Given the description of an element on the screen output the (x, y) to click on. 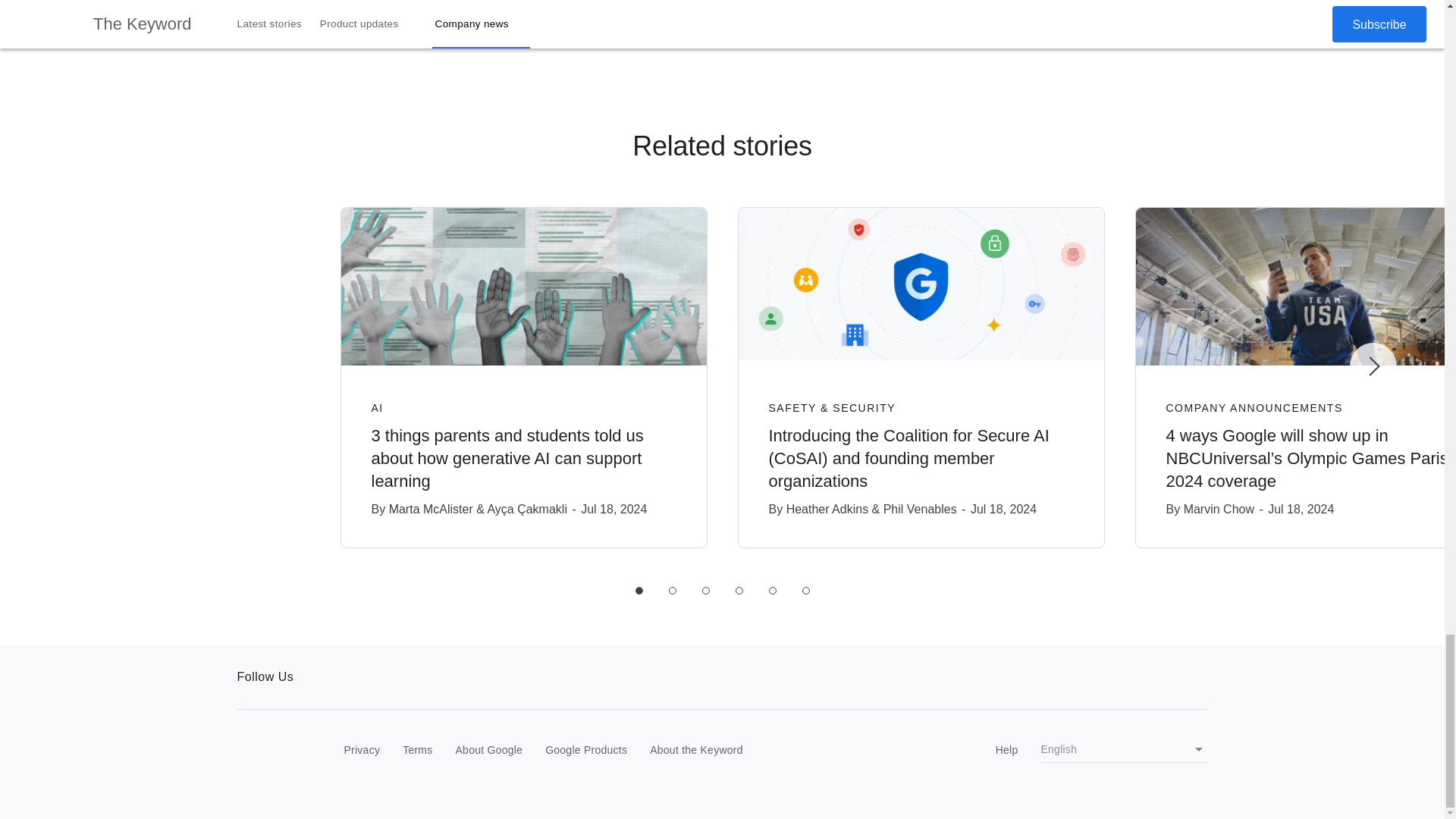
Google (268, 750)
